Given the description of an element on the screen output the (x, y) to click on. 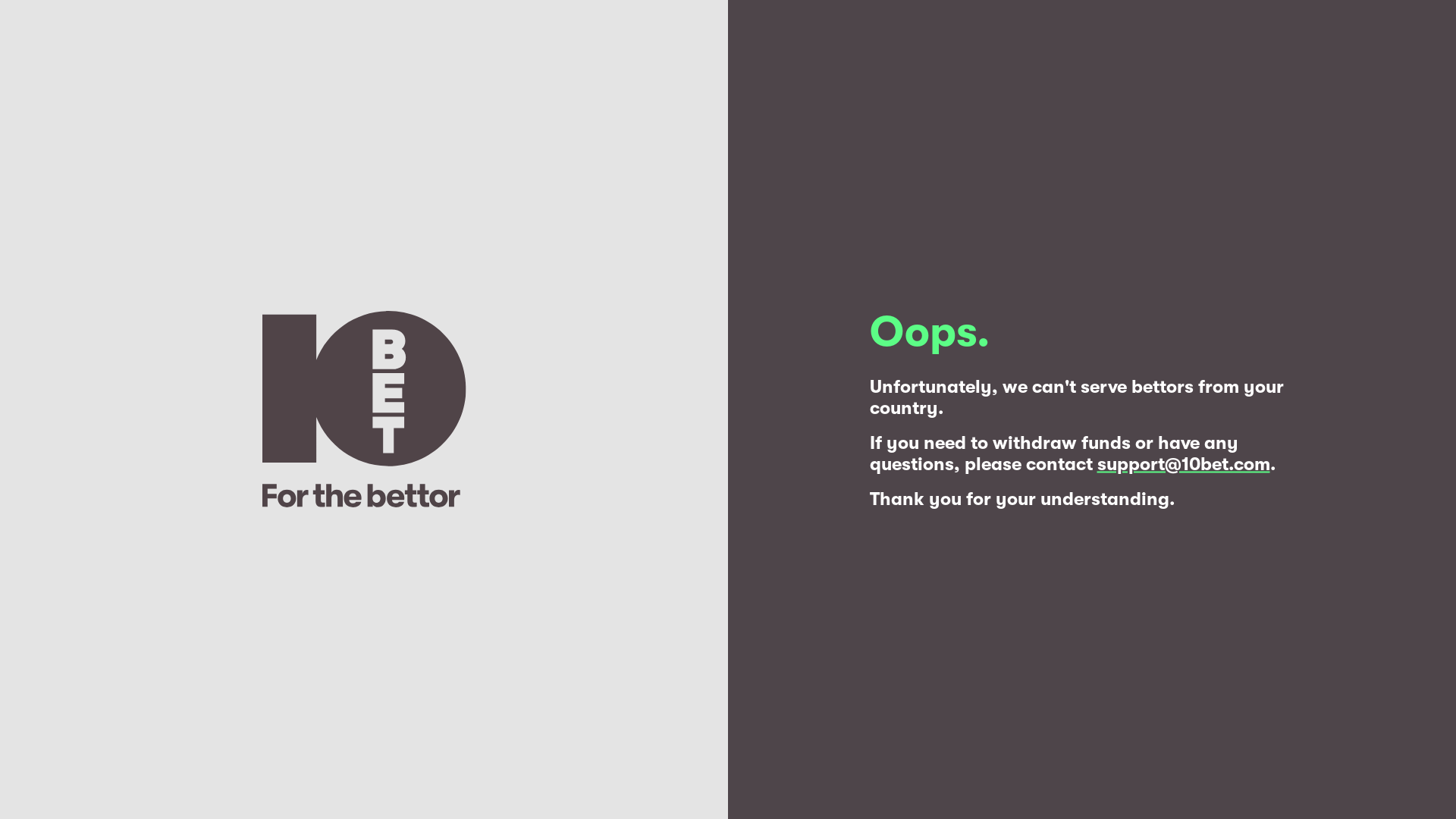
support@10bet.com Element type: text (1182, 463)
